Given the description of an element on the screen output the (x, y) to click on. 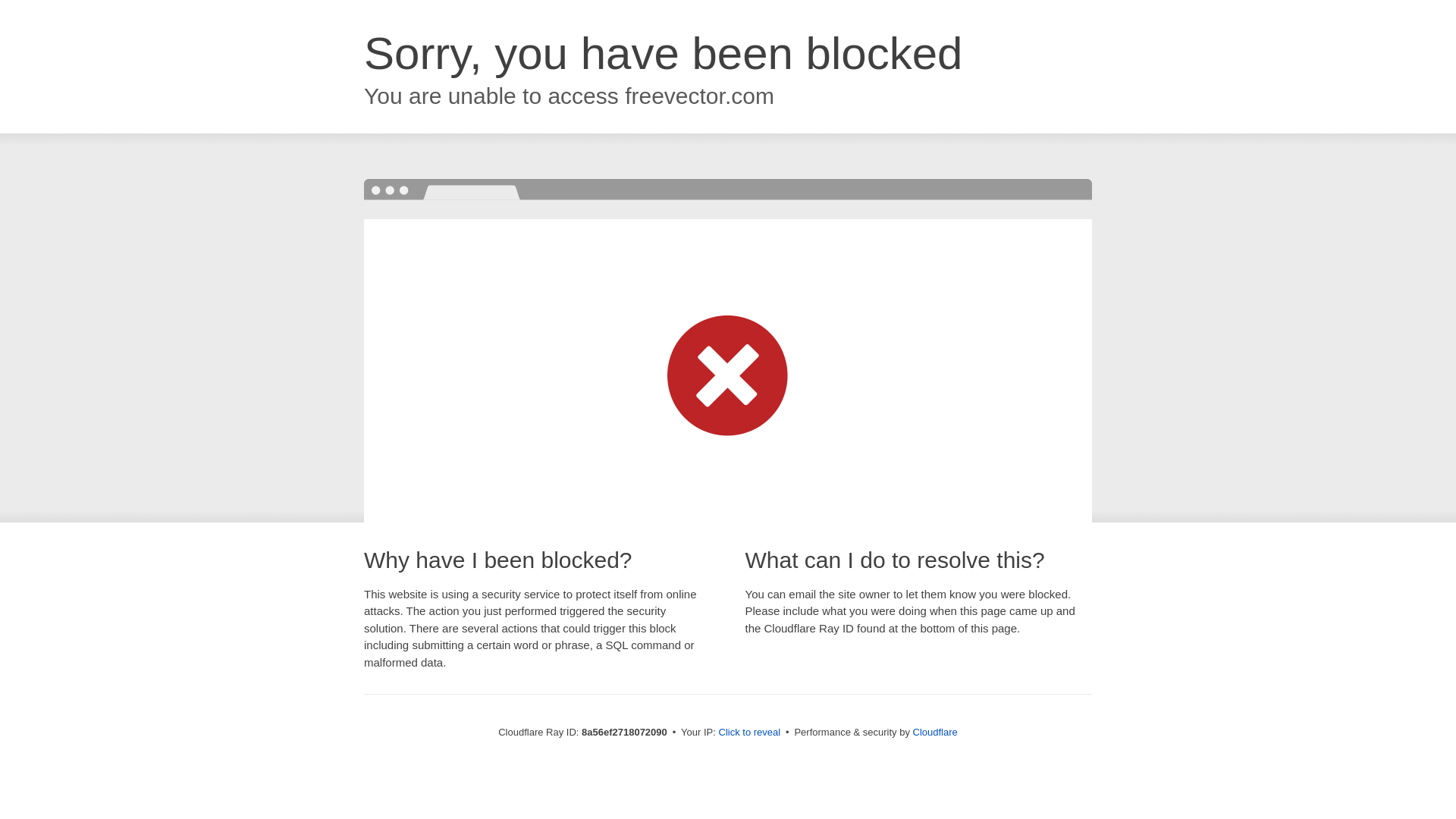
Click to reveal (749, 732)
Cloudflare (935, 731)
